Given the description of an element on the screen output the (x, y) to click on. 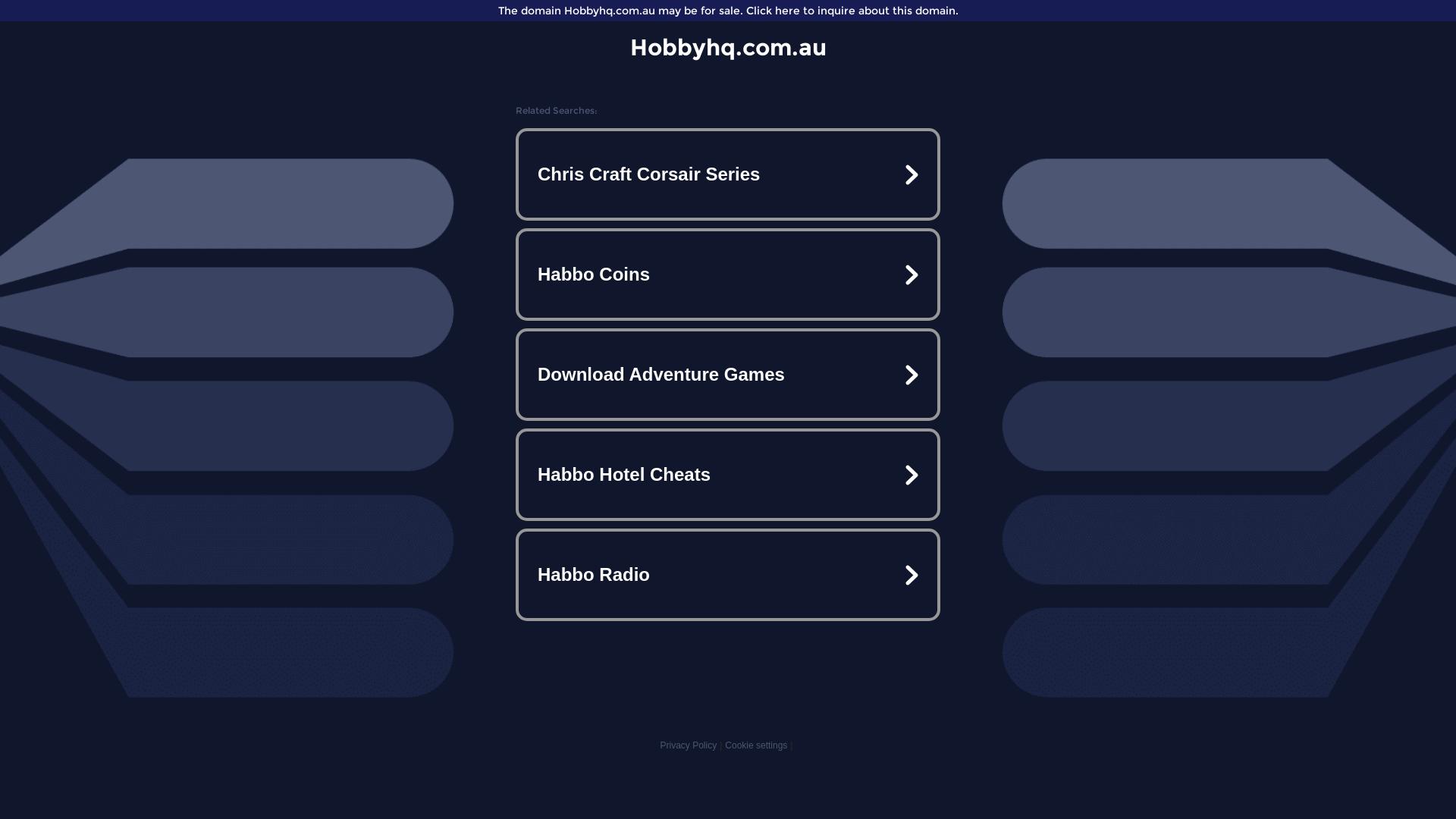
Download Adventure Games Element type: text (727, 374)
Habbo Hotel Cheats Element type: text (727, 474)
Cookie settings Element type: text (755, 745)
Chris Craft Corsair Series Element type: text (727, 174)
Habbo Coins Element type: text (727, 274)
Hobbyhq.com.au Element type: text (727, 47)
Habbo Radio Element type: text (727, 574)
Privacy Policy Element type: text (687, 745)
